Given the description of an element on the screen output the (x, y) to click on. 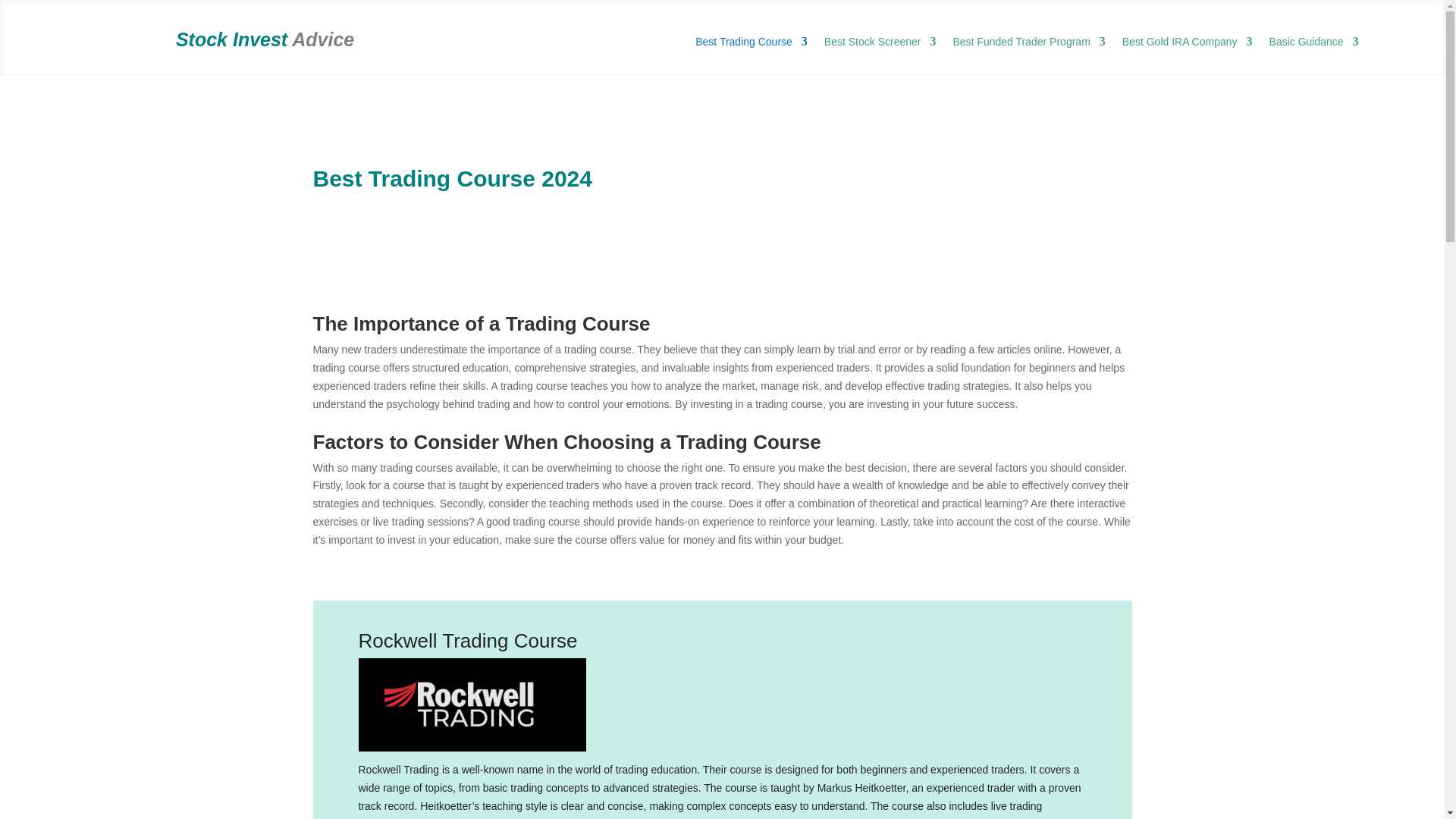
Best Funded Trader Program (1028, 44)
Best Stock Screener (880, 44)
Basic Guidance (1313, 44)
Best Gold IRA Company (1187, 44)
Best Trading Course (751, 44)
